Given the description of an element on the screen output the (x, y) to click on. 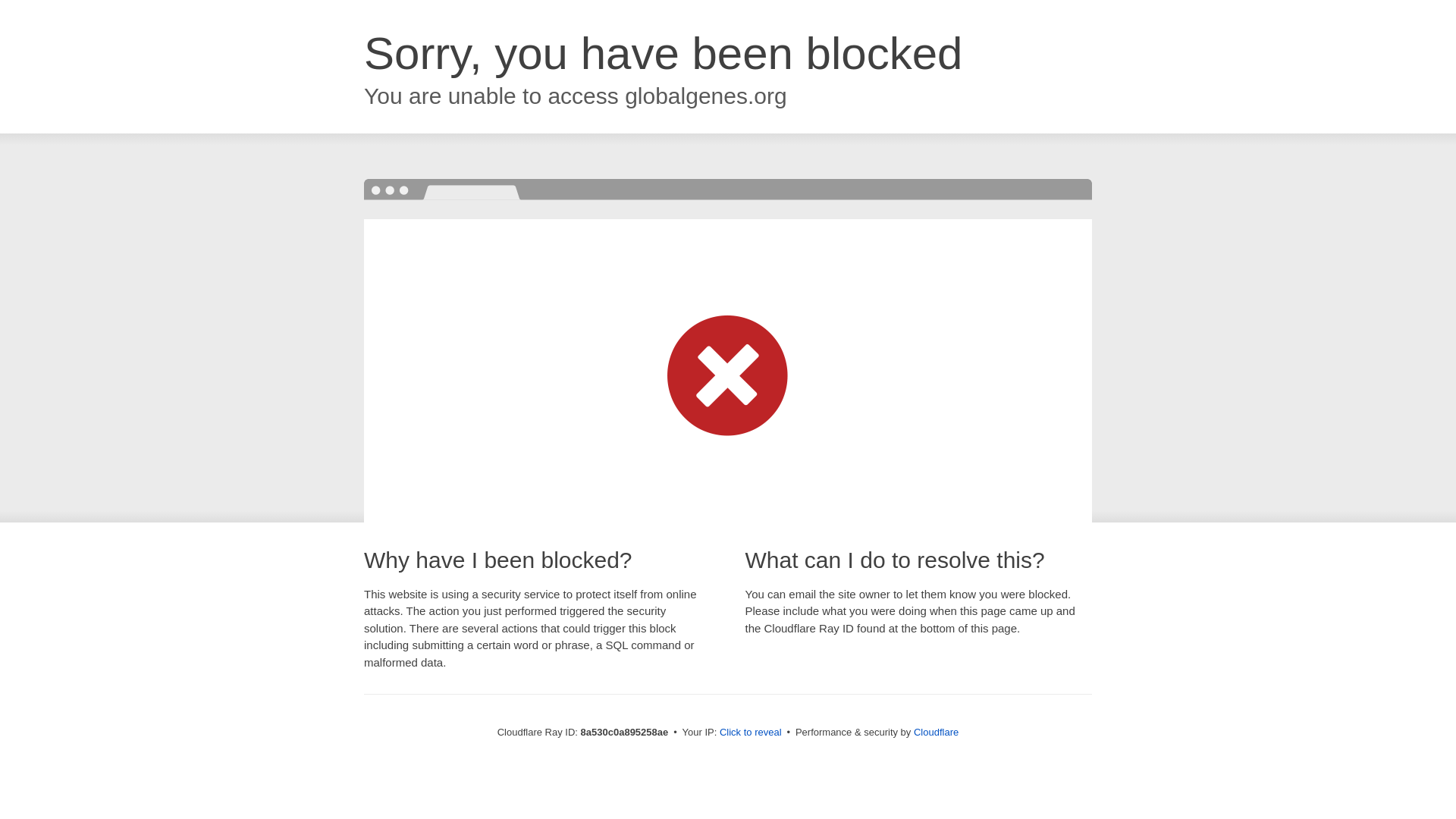
Cloudflare (936, 731)
Click to reveal (750, 732)
